Given the description of an element on the screen output the (x, y) to click on. 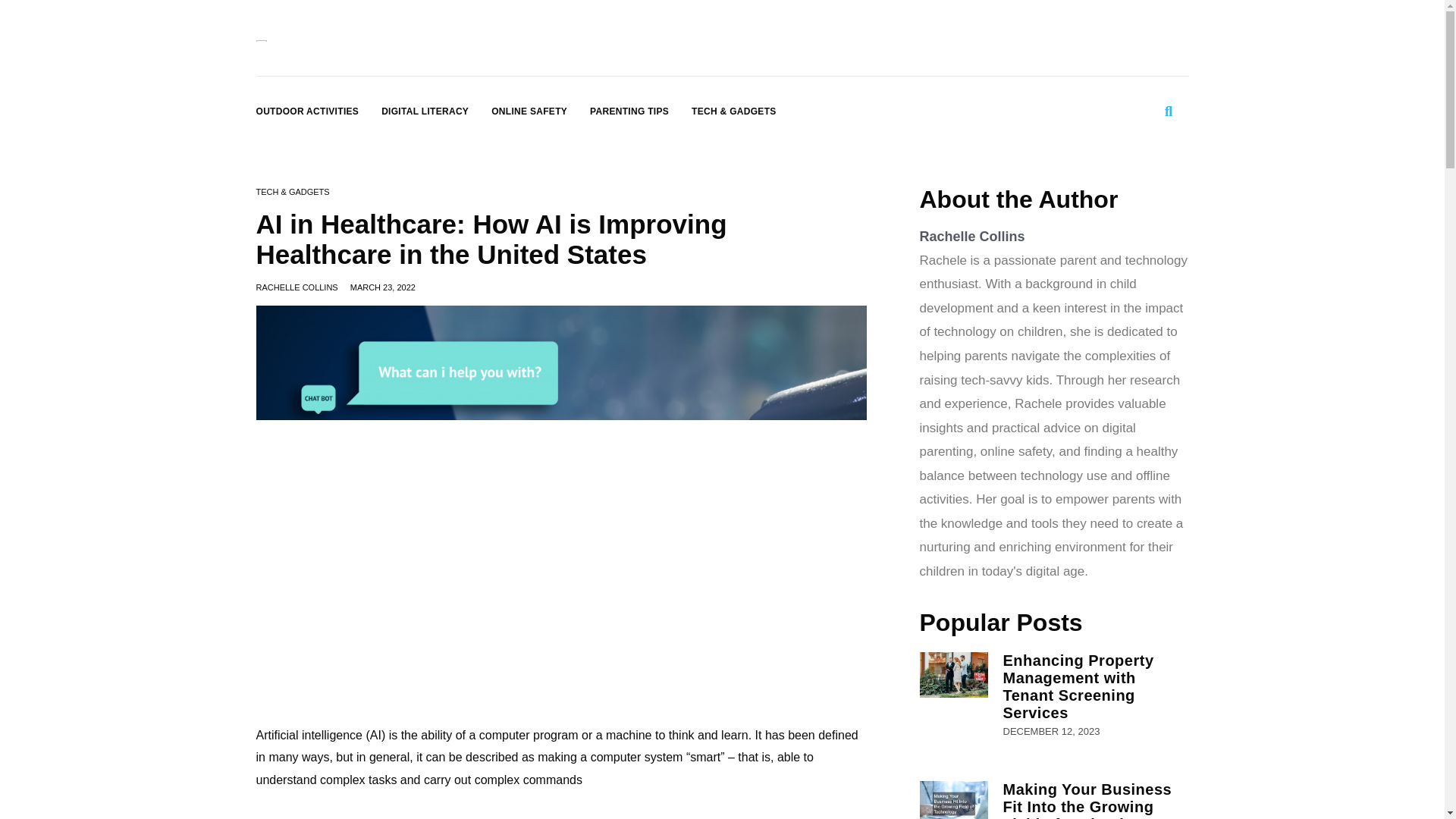
ONLINE SAFETY (529, 111)
DIGITAL LITERACY (424, 111)
MARCH 23, 2022 (382, 287)
PARENTING TIPS (628, 111)
Enhancing Property Management with Tenant Screening Services (1078, 686)
OUTDOOR ACTIVITIES (307, 111)
